Given the description of an element on the screen output the (x, y) to click on. 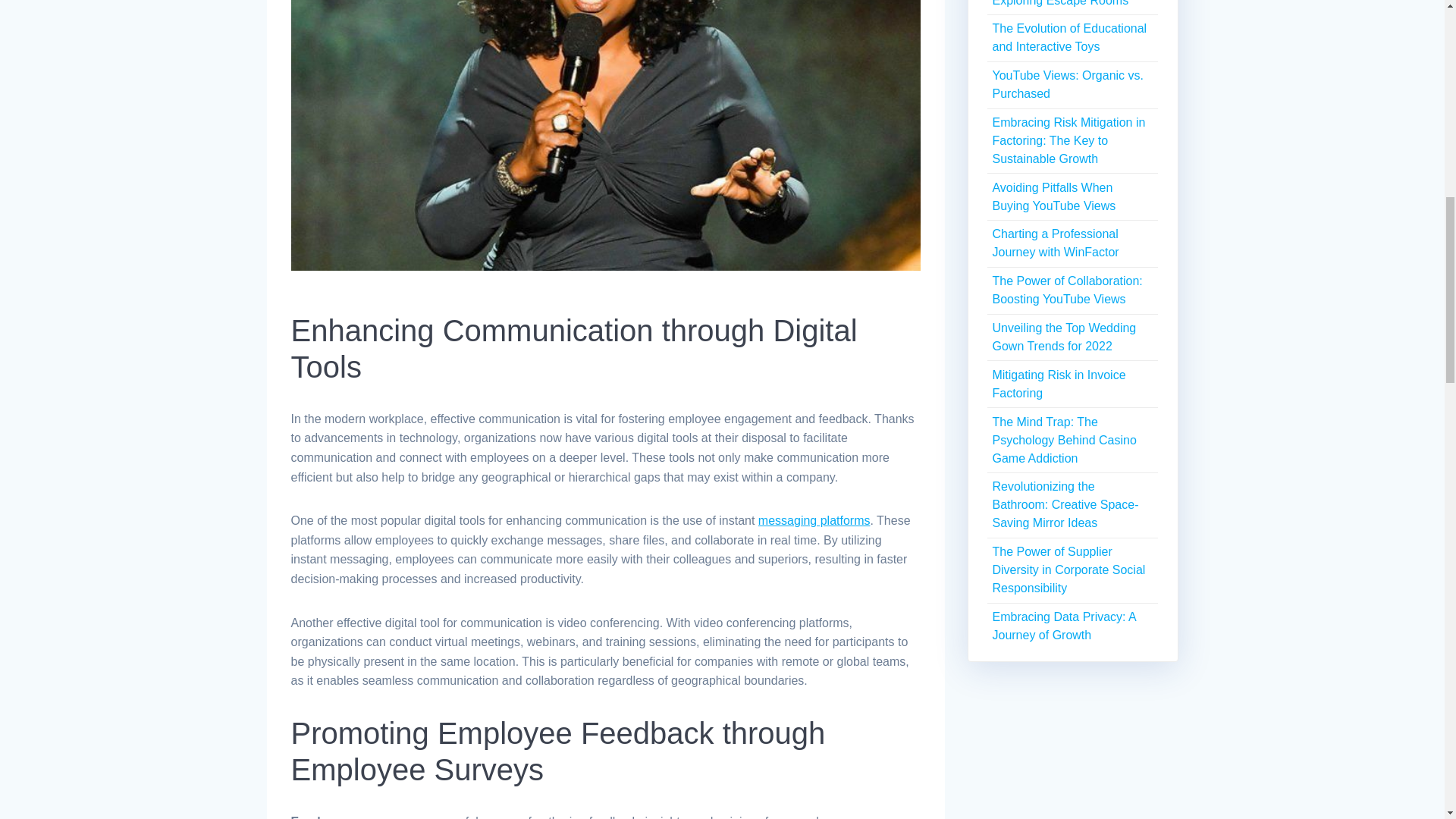
Unveiling the Top Wedding Gown Trends for 2022 (1063, 336)
YouTube Views: Organic vs. Purchased (1066, 83)
Charting a Professional Journey with WinFactor (1054, 242)
messaging platforms (814, 520)
Avoiding Pitfalls When Buying YouTube Views (1053, 196)
The Mind Trap: The Psychology Behind Casino Game Addiction (1063, 440)
Embracing Data Privacy: A Journey of Growth (1063, 625)
